Given the description of an element on the screen output the (x, y) to click on. 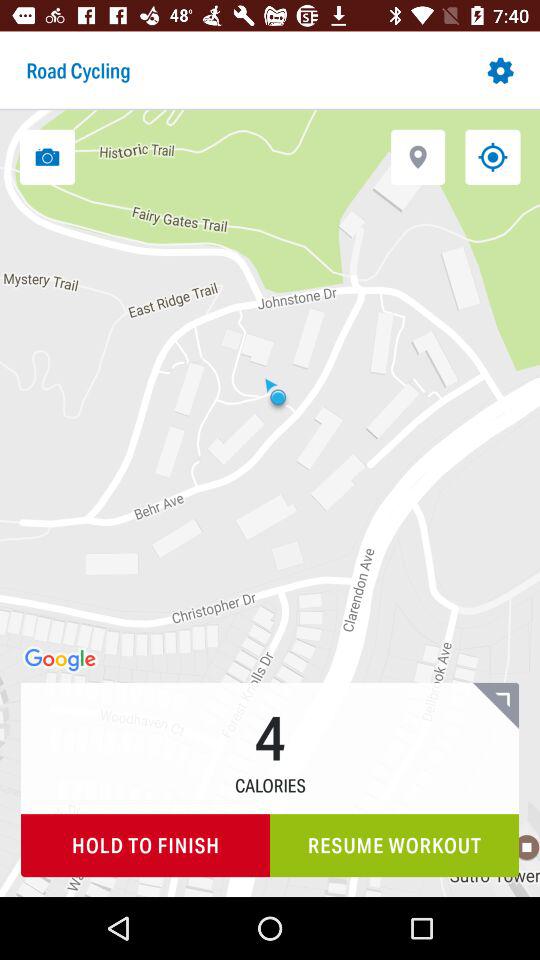
press the item next to the resume workout item (145, 845)
